Given the description of an element on the screen output the (x, y) to click on. 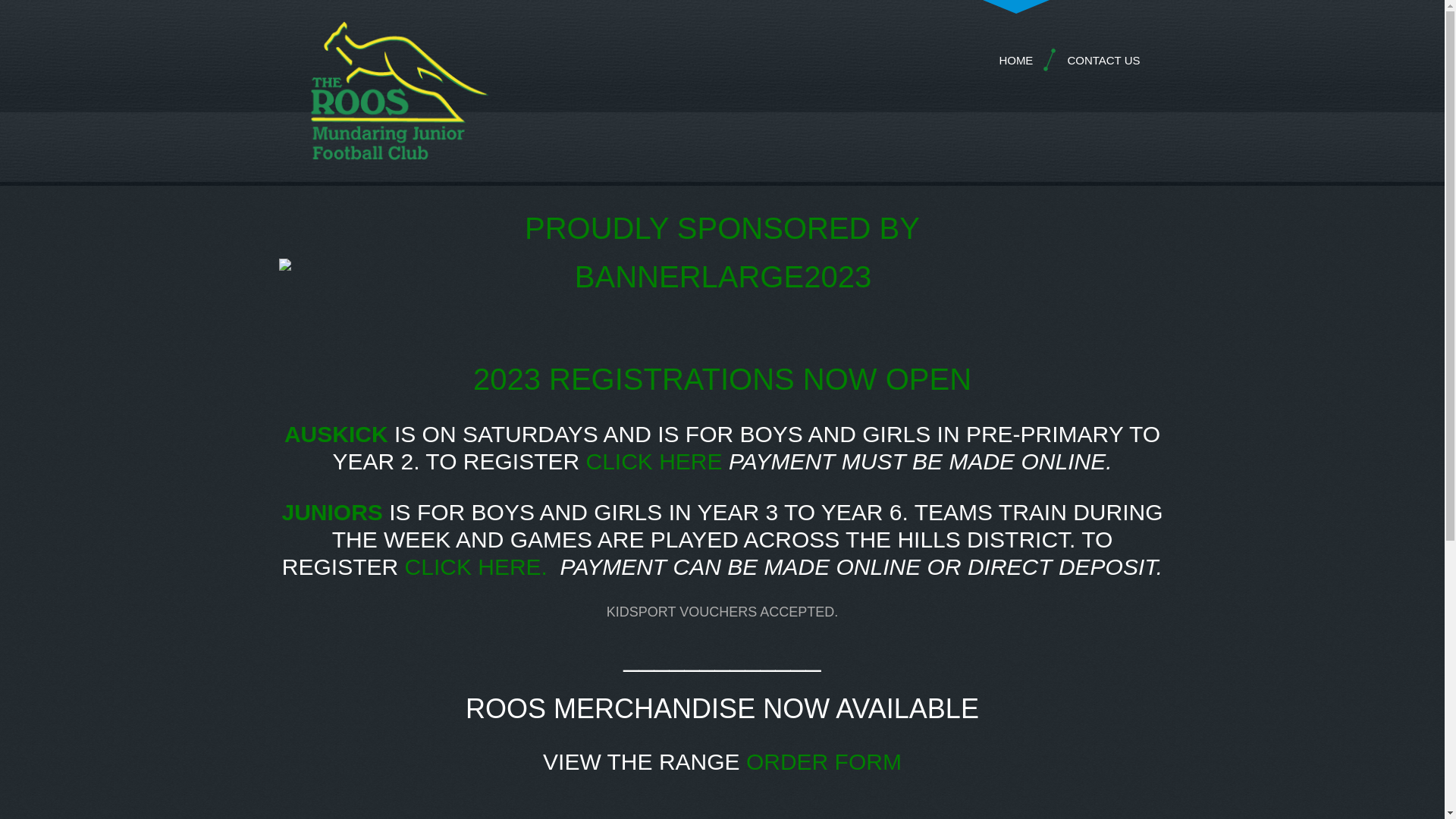
CLICK HERE Element type: text (653, 460)
HOME Element type: text (1015, 60)
ORDER FORM Element type: text (823, 761)
CLICK HERE Element type: text (472, 566)
CONTACT US Element type: text (1102, 60)
Junior Football Club Element type: hover (391, 91)
